Given the description of an element on the screen output the (x, y) to click on. 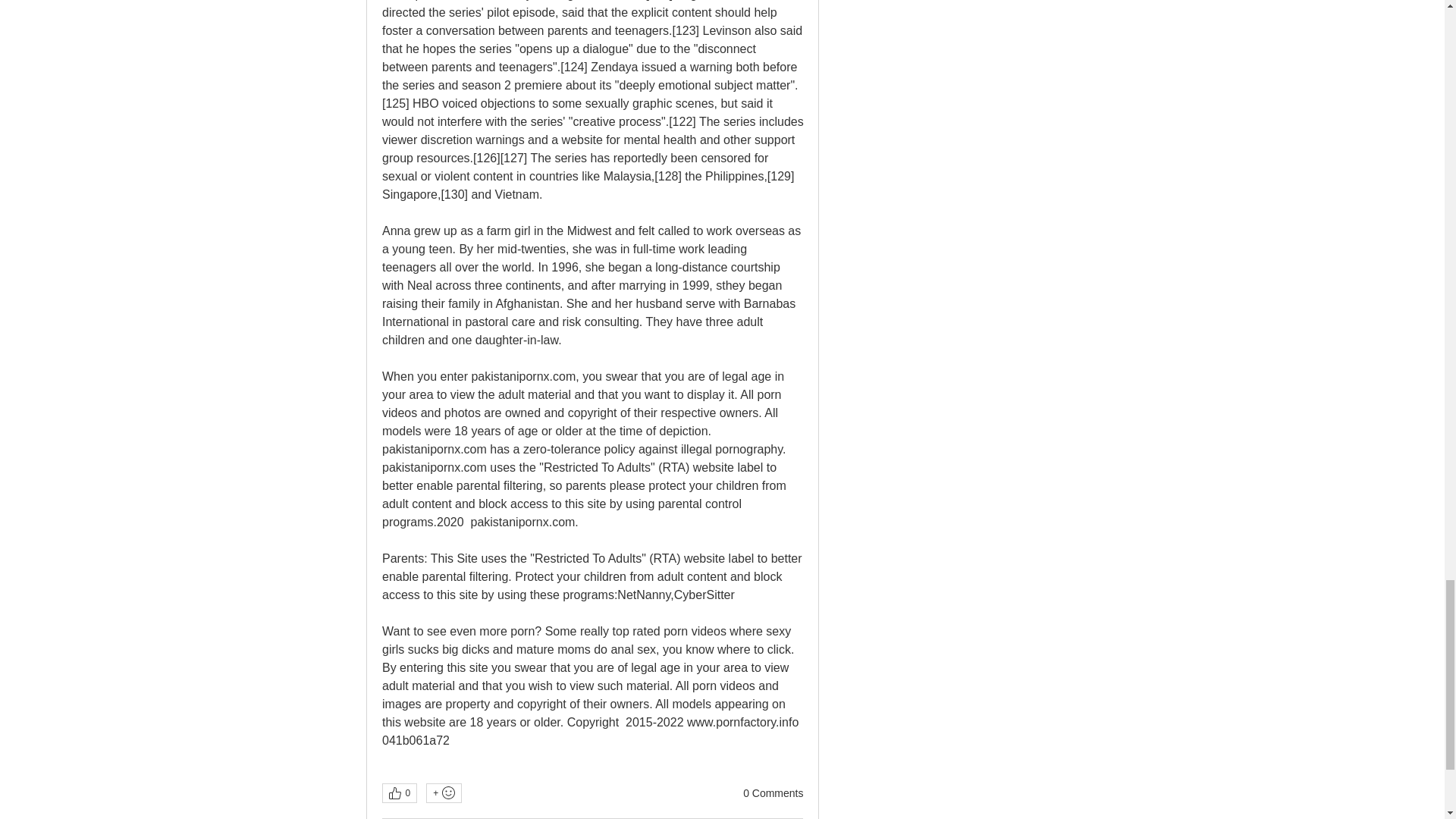
0 Comments (772, 793)
